Given the description of an element on the screen output the (x, y) to click on. 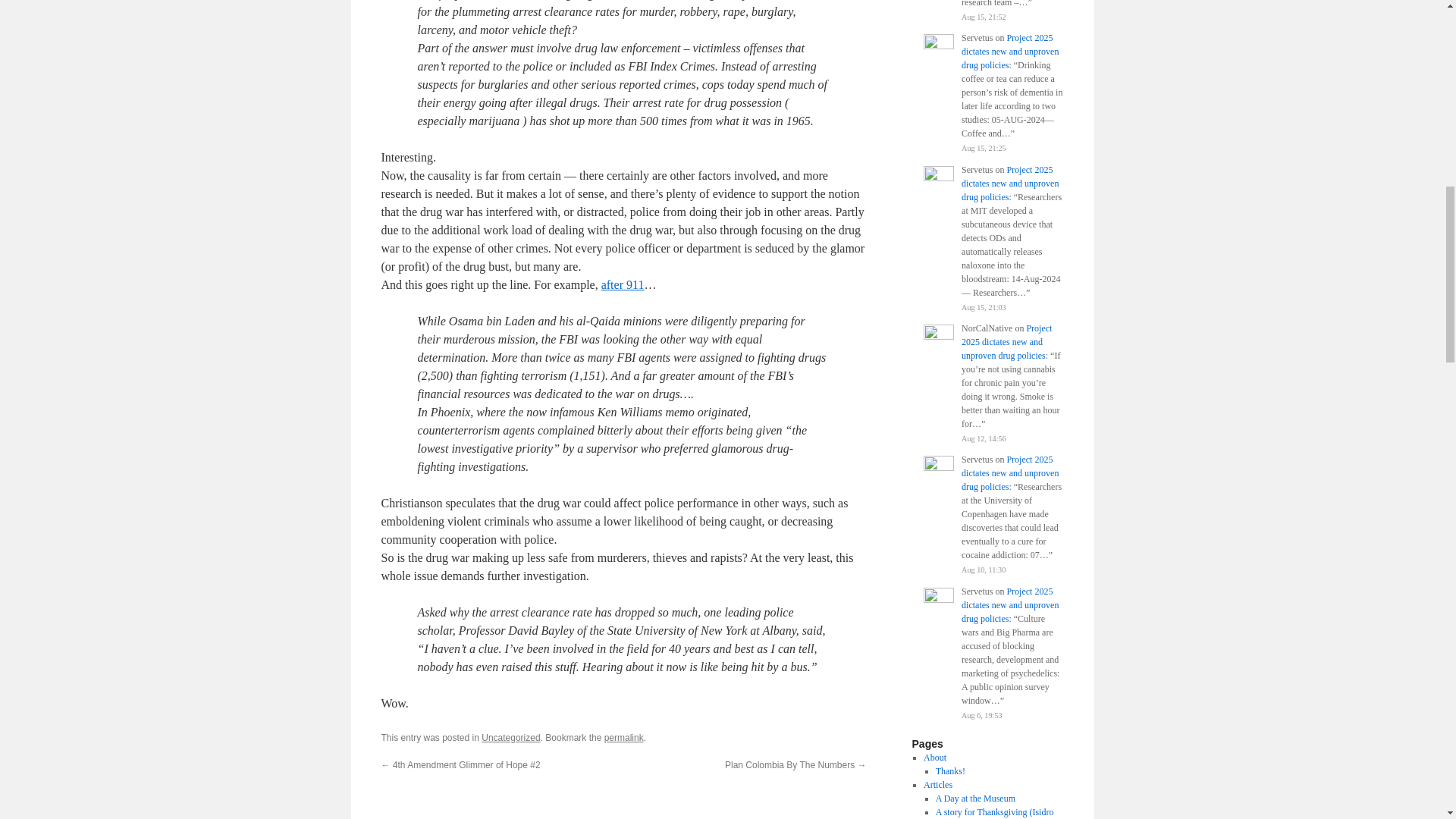
Uncategorized (510, 737)
after 911 (623, 284)
permalink (623, 737)
